Given the description of an element on the screen output the (x, y) to click on. 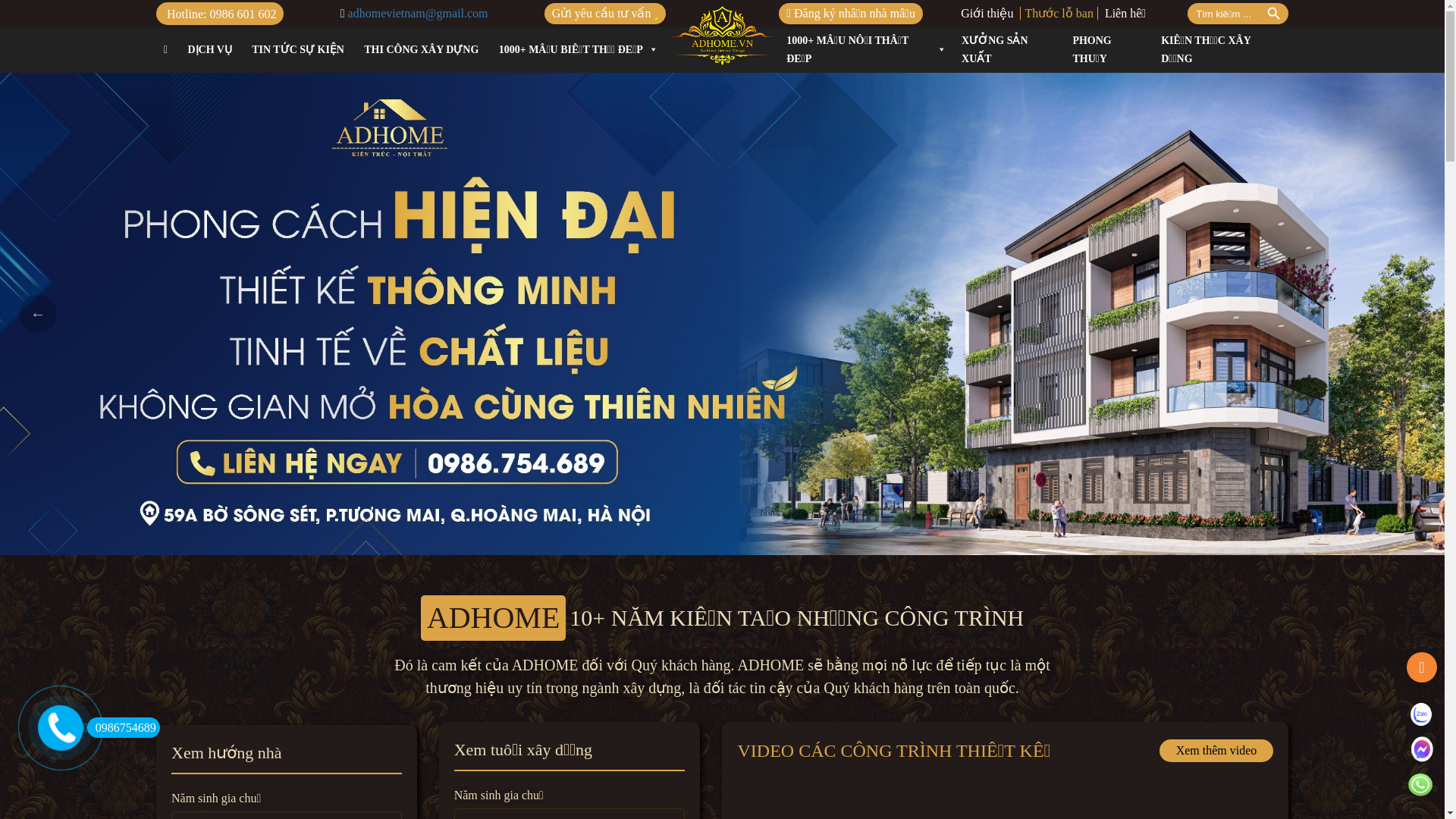
YouTube video player (1004, 799)
Call Hotline (1421, 784)
YouTube video player (468, 799)
Search Button (1274, 13)
Chat Zalo (1421, 714)
Chat Facebook (1421, 748)
